Given the description of an element on the screen output the (x, y) to click on. 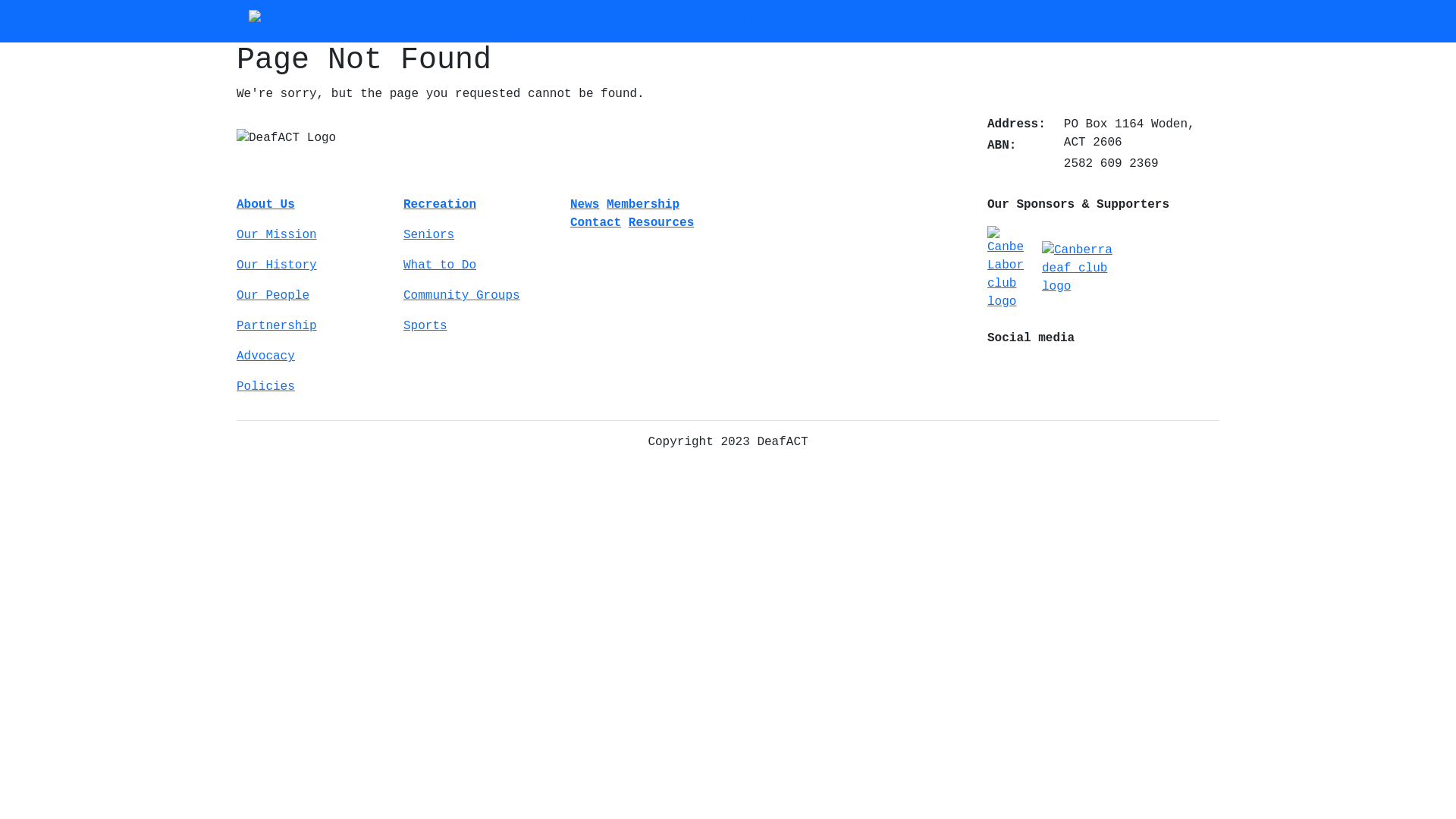
Our Mission Element type: text (310, 234)
News Element type: text (584, 204)
Contact Element type: text (595, 222)
Policies Element type: text (310, 386)
About Us Element type: text (447, 21)
Membership Element type: text (740, 21)
Recreation Element type: text (560, 21)
Resources Element type: text (827, 21)
Membership Element type: text (642, 204)
Our People Element type: text (310, 295)
Contact Element type: text (939, 21)
What to Do Element type: text (477, 265)
Our History Element type: text (310, 265)
Seniors Element type: text (477, 234)
About Us Element type: text (310, 204)
Advocacy Element type: text (310, 356)
Sports Element type: text (477, 325)
Community Groups Element type: text (477, 295)
Partnership Element type: text (310, 325)
Recreation Element type: text (477, 204)
Resources Element type: text (660, 222)
News Element type: text (664, 21)
